Given the description of an element on the screen output the (x, y) to click on. 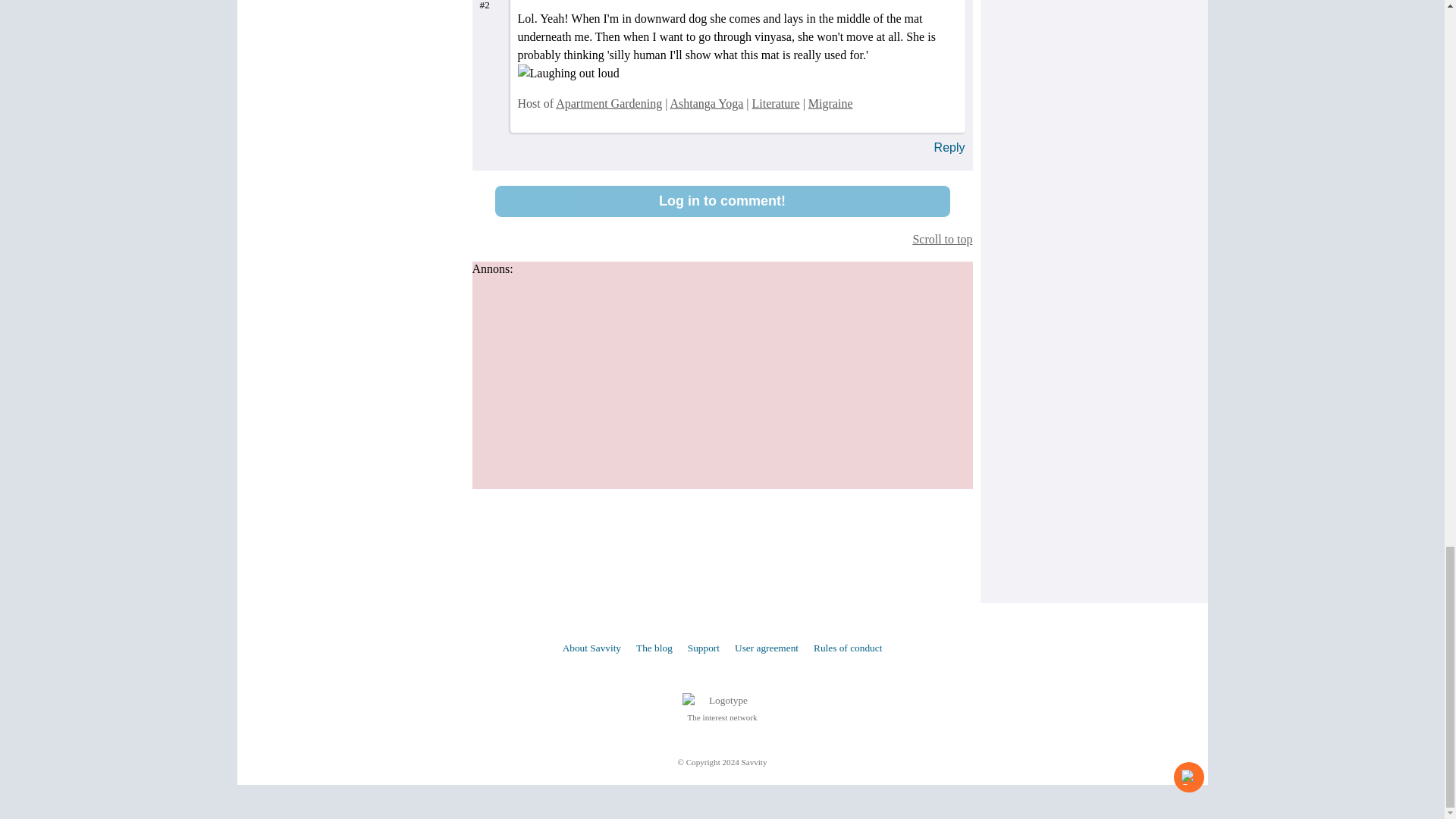
Scroll to top (721, 238)
Migraine (830, 103)
Ashtanga Yoga (705, 103)
Apartment Gardening (609, 103)
User agreement (766, 646)
Literature (775, 103)
About Savvity (591, 646)
Laughing out loud (567, 73)
Scroll to top (721, 238)
Support (702, 646)
Rules of conduct (847, 646)
Log in to comment! (722, 201)
The blog (653, 646)
Reply (949, 147)
